Given the description of an element on the screen output the (x, y) to click on. 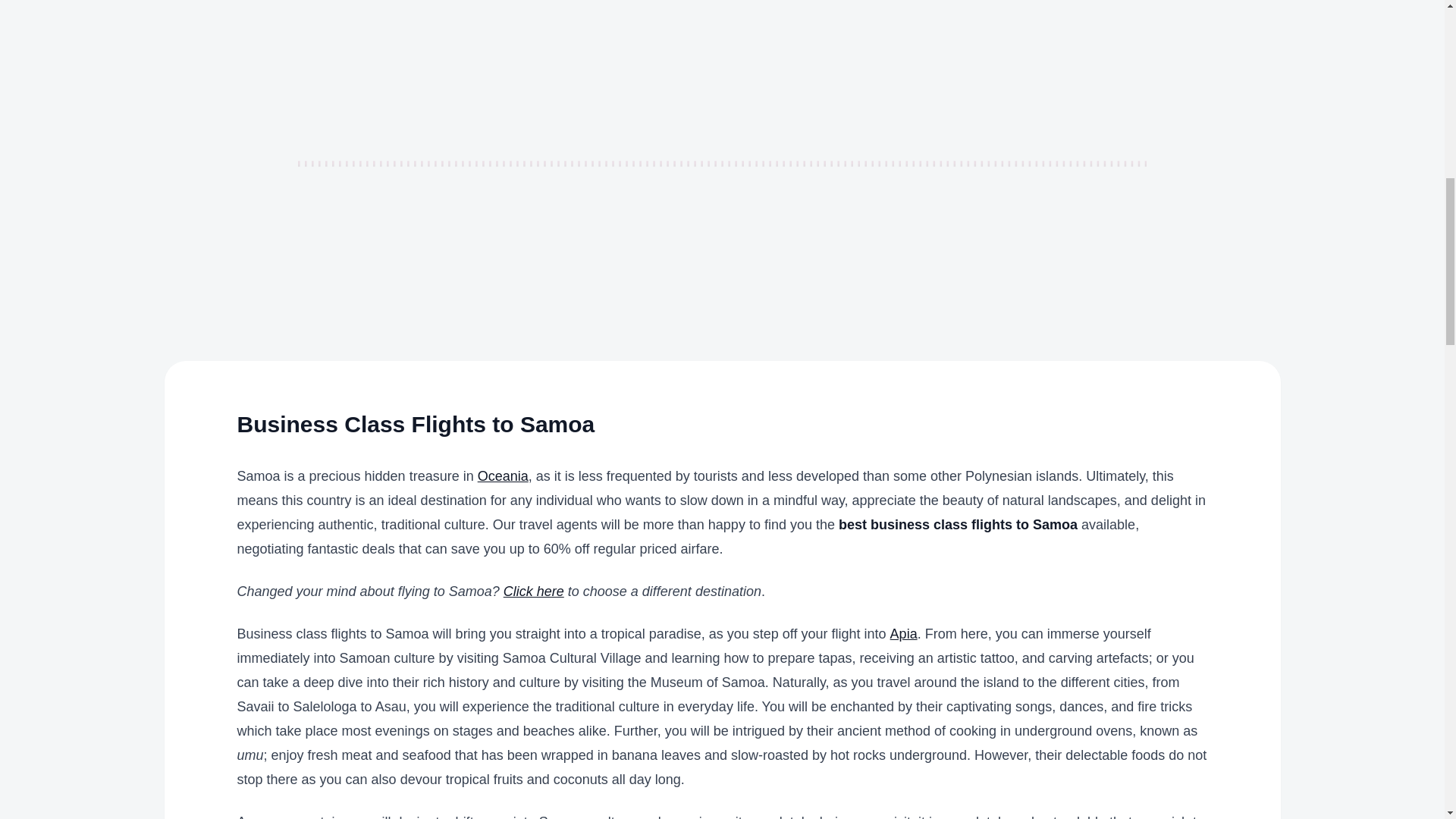
Business Class Flights to Oceania (502, 476)
Cheap Business Class Tickets (533, 590)
Business Class Flights to Apia (903, 633)
